Given the description of an element on the screen output the (x, y) to click on. 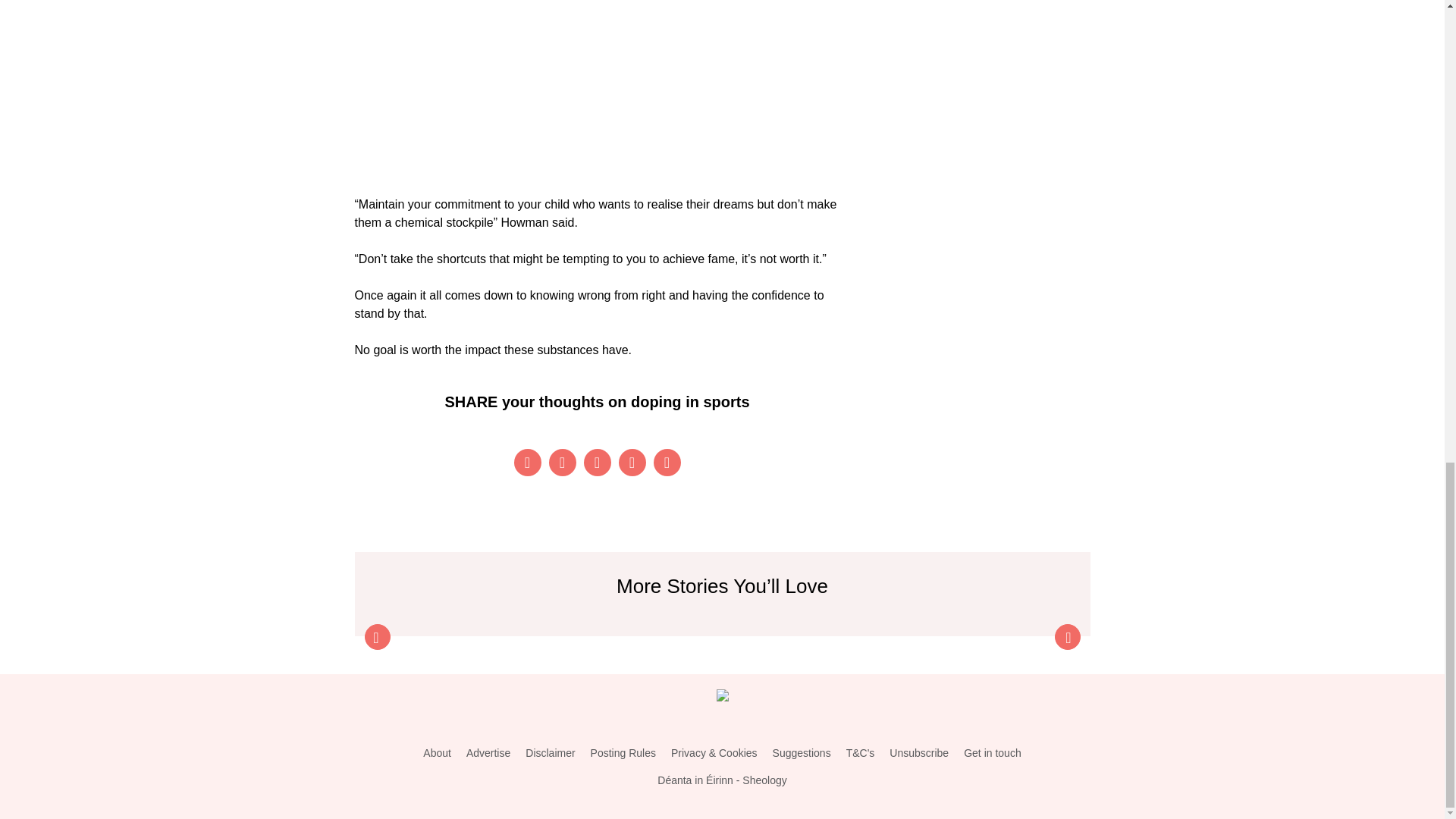
Get in touch (992, 753)
Sheology (764, 779)
Disclaimer (550, 753)
About (436, 753)
Suggestions (801, 753)
Email (667, 461)
Posting Rules (623, 753)
Unsubscribe (919, 753)
Advertise (488, 753)
